Given the description of an element on the screen output the (x, y) to click on. 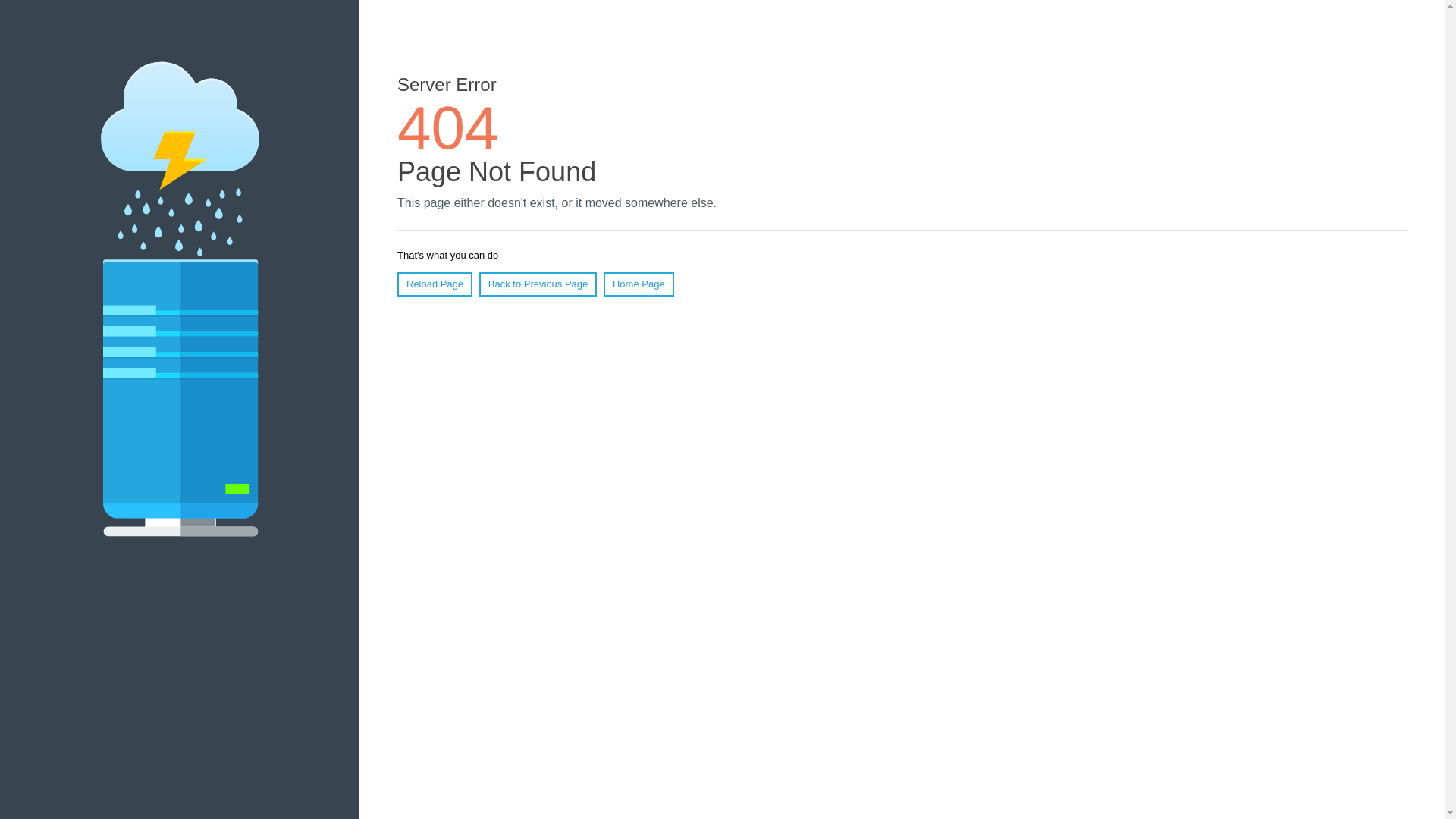
Back to Previous Page Element type: text (538, 284)
Home Page Element type: text (638, 284)
Reload Page Element type: text (434, 284)
